Given the description of an element on the screen output the (x, y) to click on. 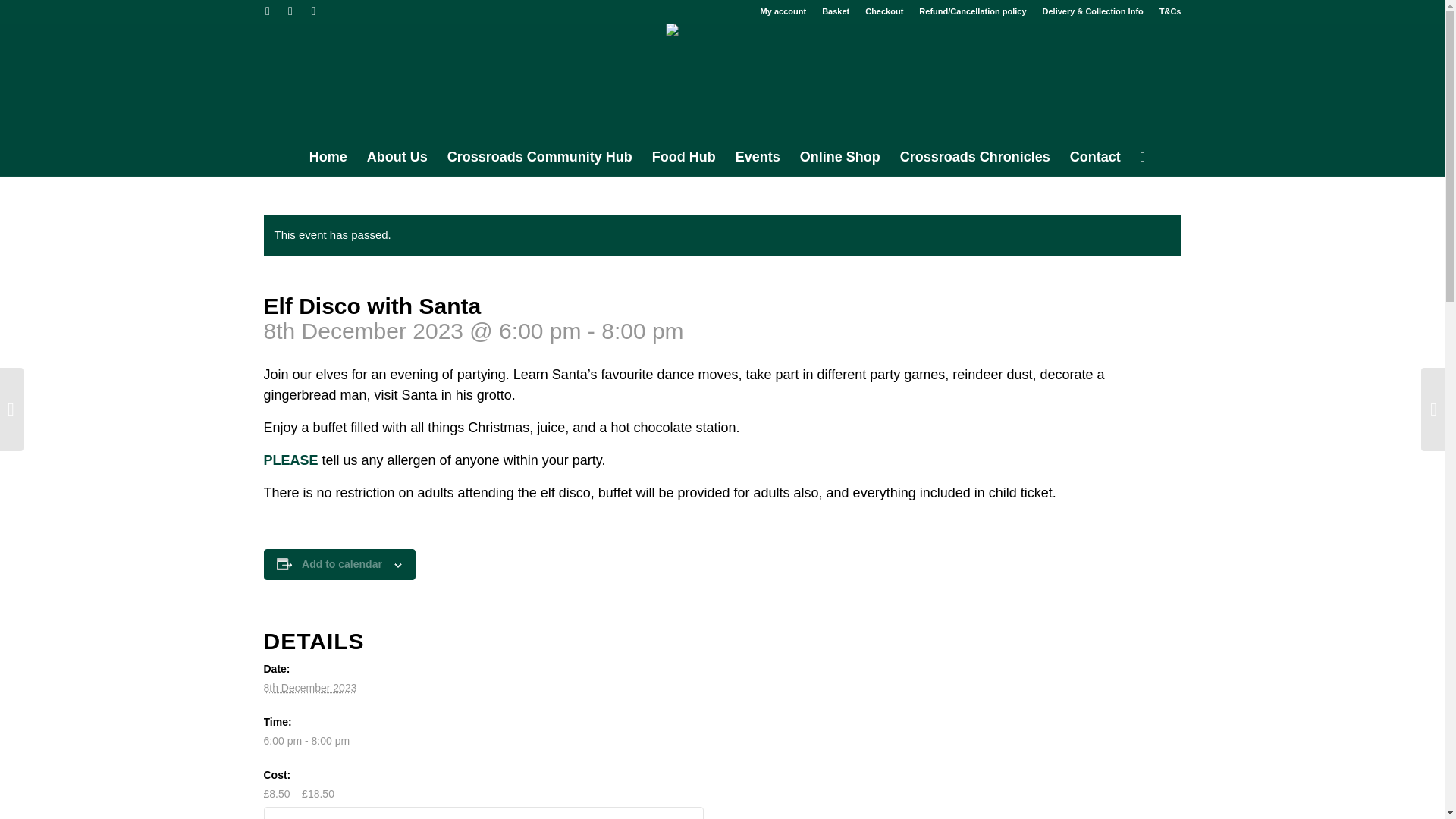
Crossroads Community Hub (540, 157)
Twitter (267, 11)
Checkout (883, 11)
Facebook (290, 11)
Online Shop (839, 157)
2023-12-08 (309, 687)
Home (327, 157)
Crossroads Chronicles (974, 157)
Instagram (312, 11)
My account (783, 11)
